Given the description of an element on the screen output the (x, y) to click on. 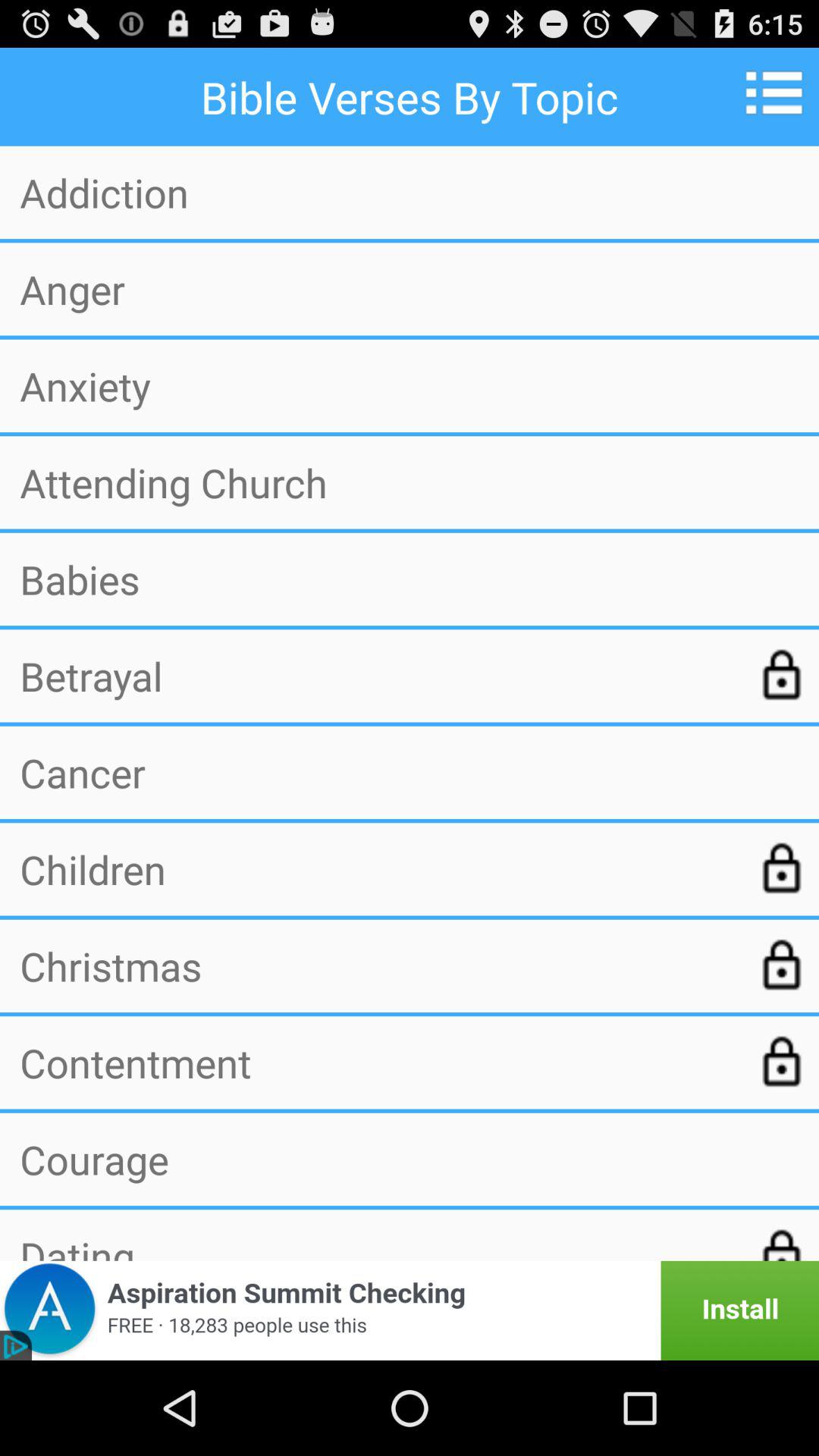
jump until the addiction item (409, 192)
